Given the description of an element on the screen output the (x, y) to click on. 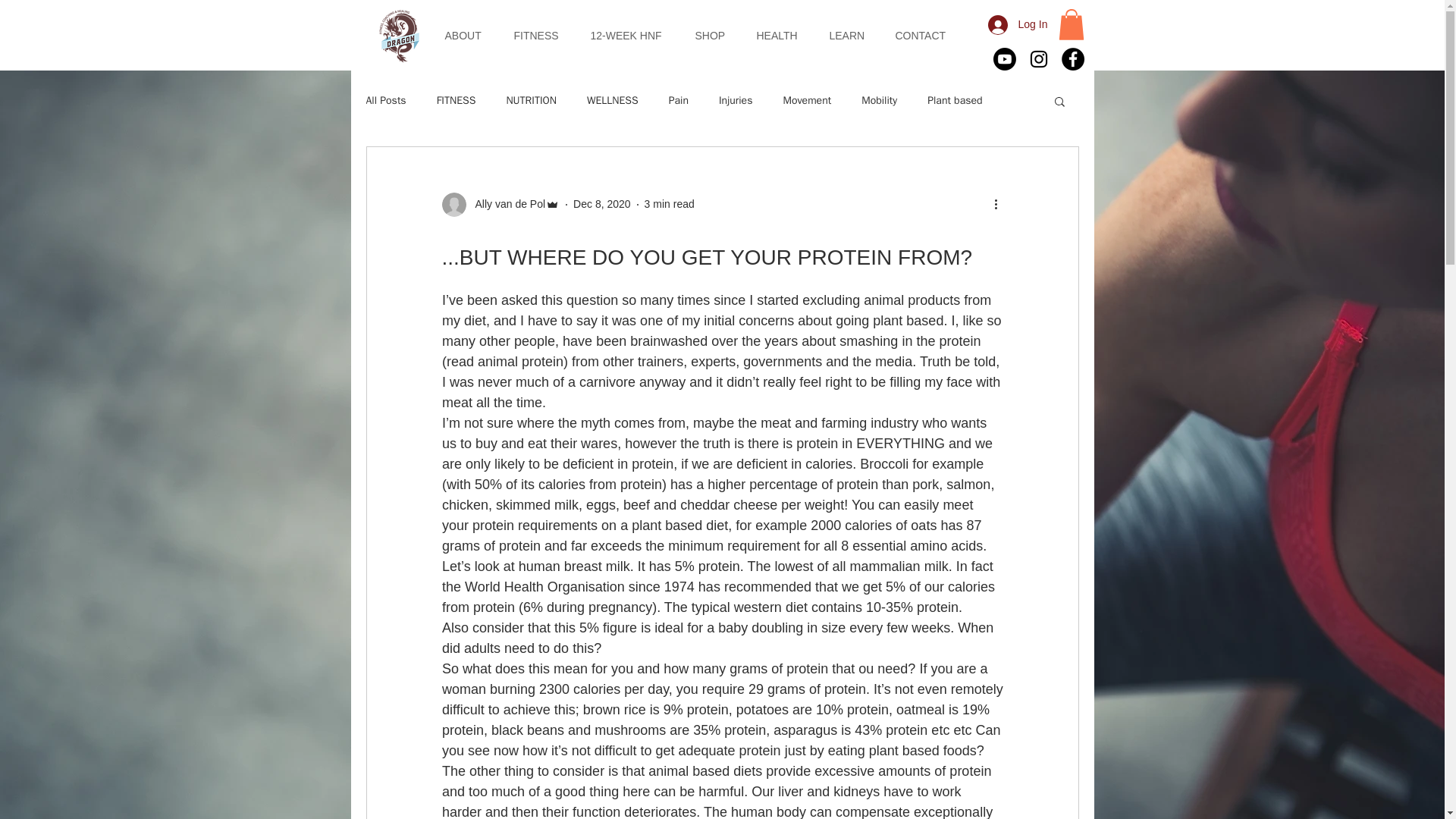
NUTRITION (530, 100)
CONTACT (924, 35)
FITNESS (540, 35)
Dec 8, 2020 (601, 203)
Ally van de Pol (504, 204)
SHOP (714, 35)
Injuries (735, 100)
Pain (678, 100)
FITNESS (456, 100)
ABOUT (467, 35)
